Given the description of an element on the screen output the (x, y) to click on. 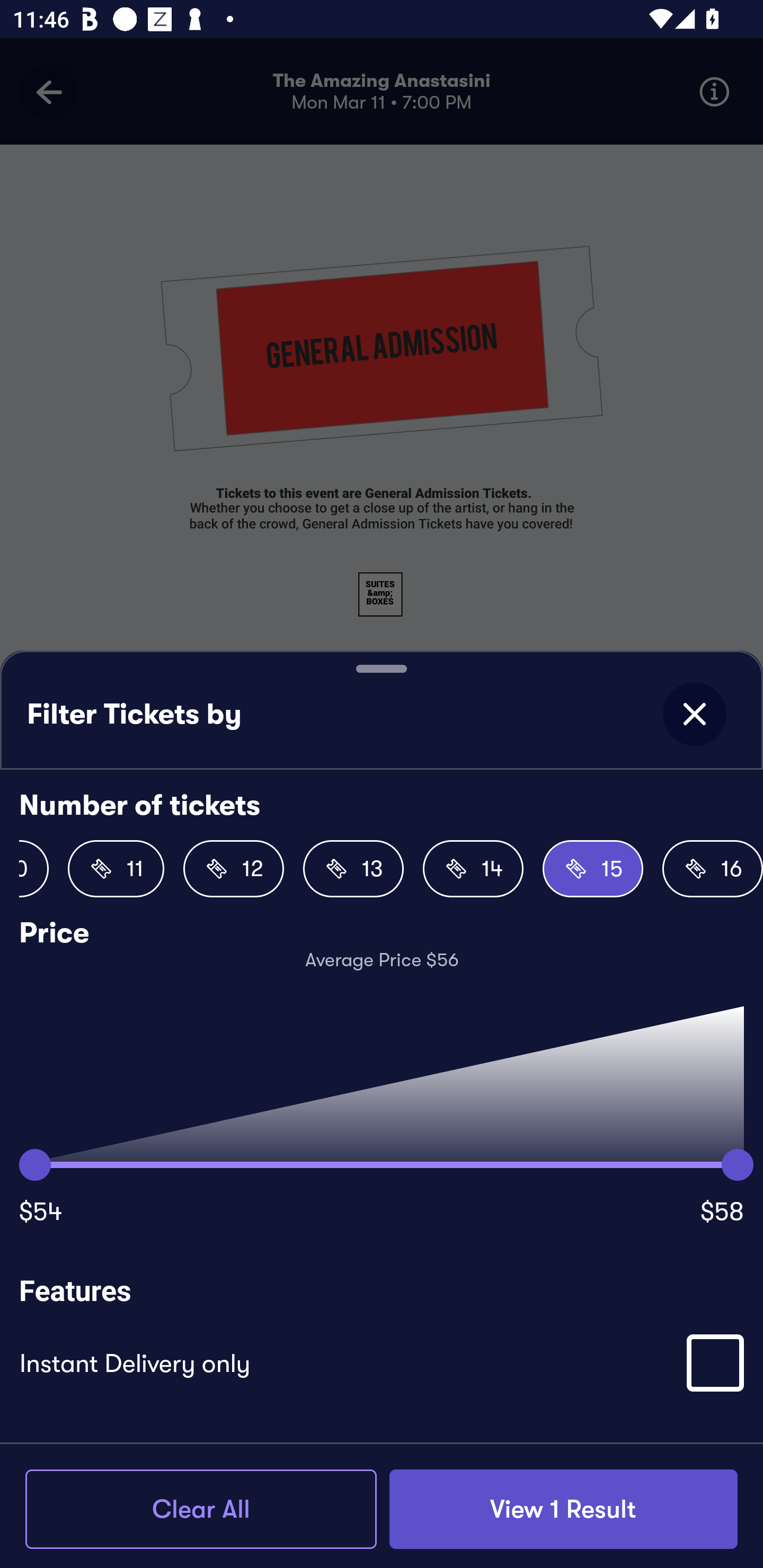
close (694, 714)
11 (115, 868)
12 (233, 868)
13 (352, 868)
14 (472, 868)
15 (592, 868)
16 (712, 868)
Clear All (200, 1509)
View 1 Result (563, 1509)
